Given the description of an element on the screen output the (x, y) to click on. 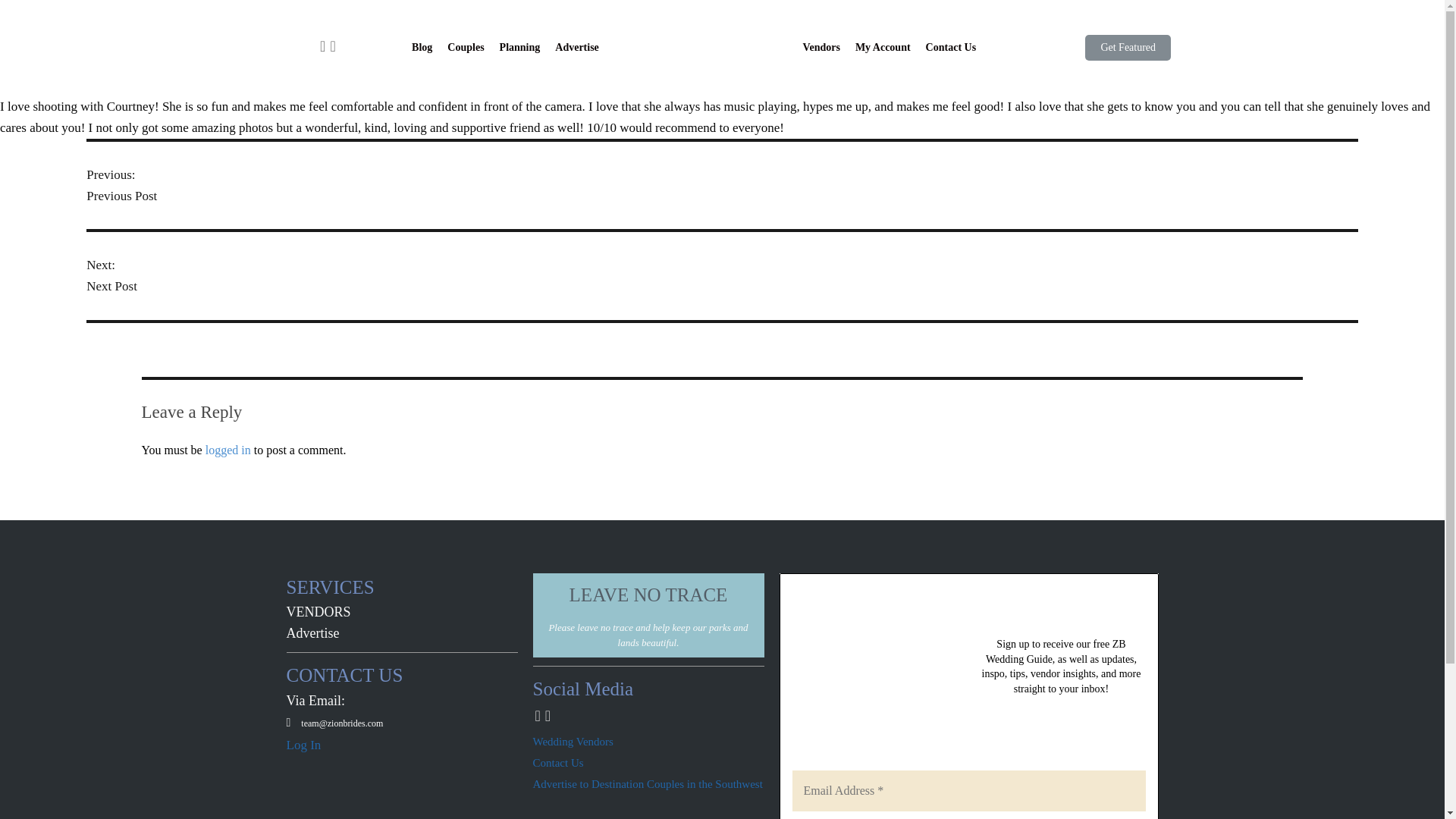
Couples (465, 47)
Get Featured (1127, 47)
Advertise (577, 47)
Email Address (968, 790)
Zion Brides Utah Weddings Logo (726, 47)
Planning (520, 47)
Blog (421, 47)
My Account (882, 47)
Vendors (820, 47)
Contact Us (951, 47)
